Given the description of an element on the screen output the (x, y) to click on. 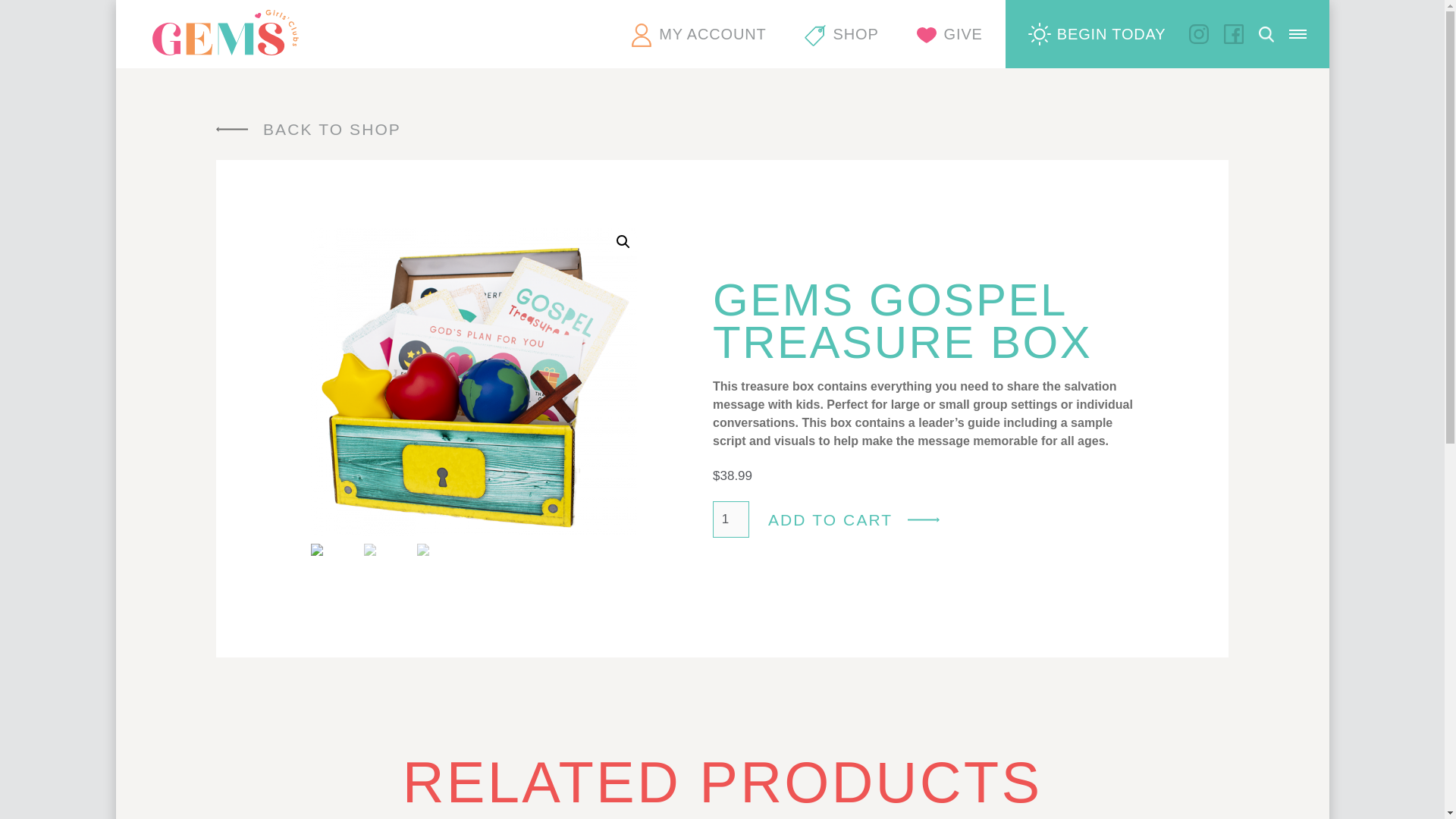
GIVE (949, 33)
BACK TO SHOP (308, 129)
Instagram (1198, 34)
gospeltreasureboxopen (474, 382)
ADD TO CART (853, 519)
GEMS Girls' Clubs (225, 32)
1 (731, 519)
MY ACCOUNT (698, 33)
SHOP (842, 33)
Facebook (1233, 34)
BEGIN TODAY (1096, 33)
Begin Today (1096, 33)
